Given the description of an element on the screen output the (x, y) to click on. 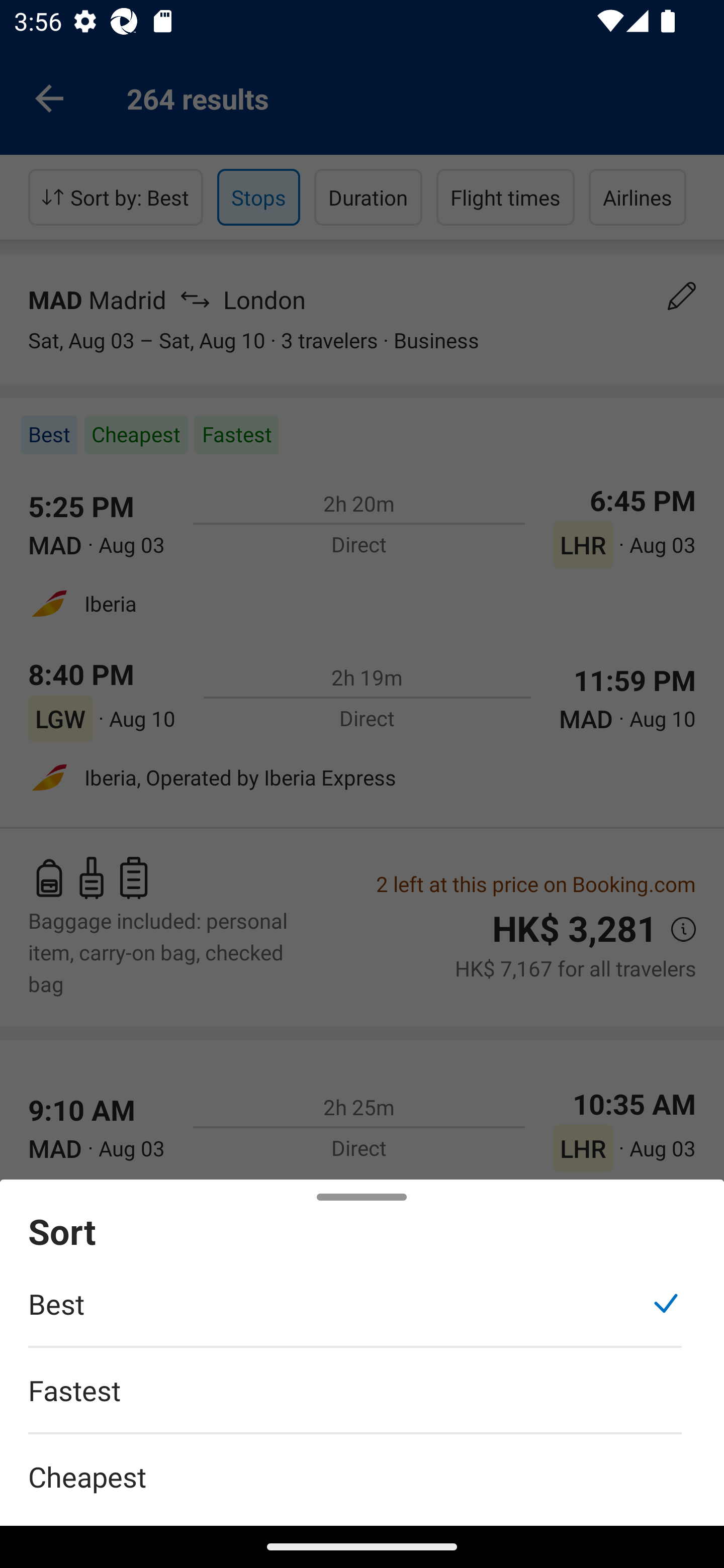
Best (355, 1313)
Fastest (355, 1399)
Cheapest (362, 1465)
